Given the description of an element on the screen output the (x, y) to click on. 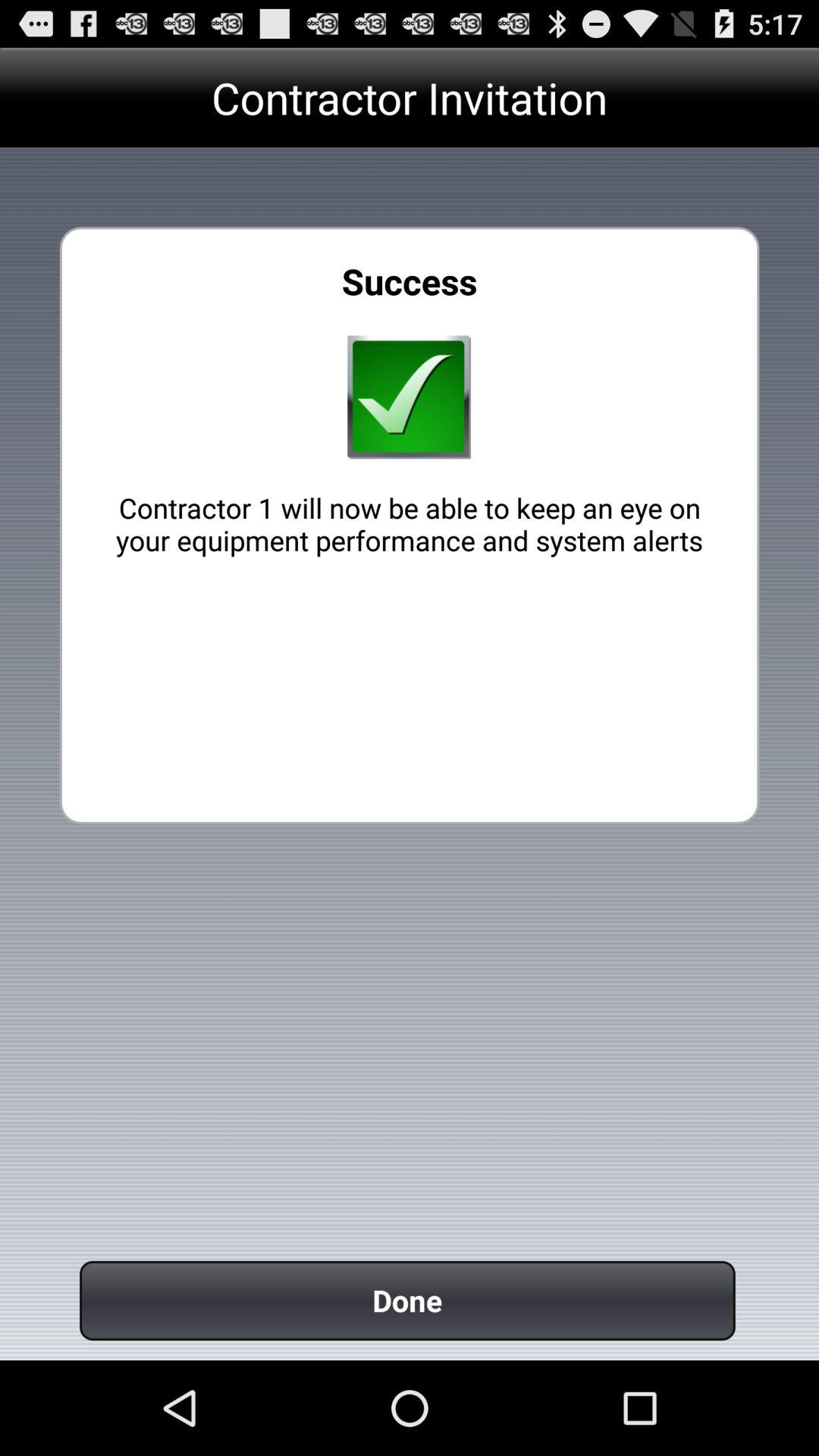
flip to done icon (407, 1300)
